Given the description of an element on the screen output the (x, y) to click on. 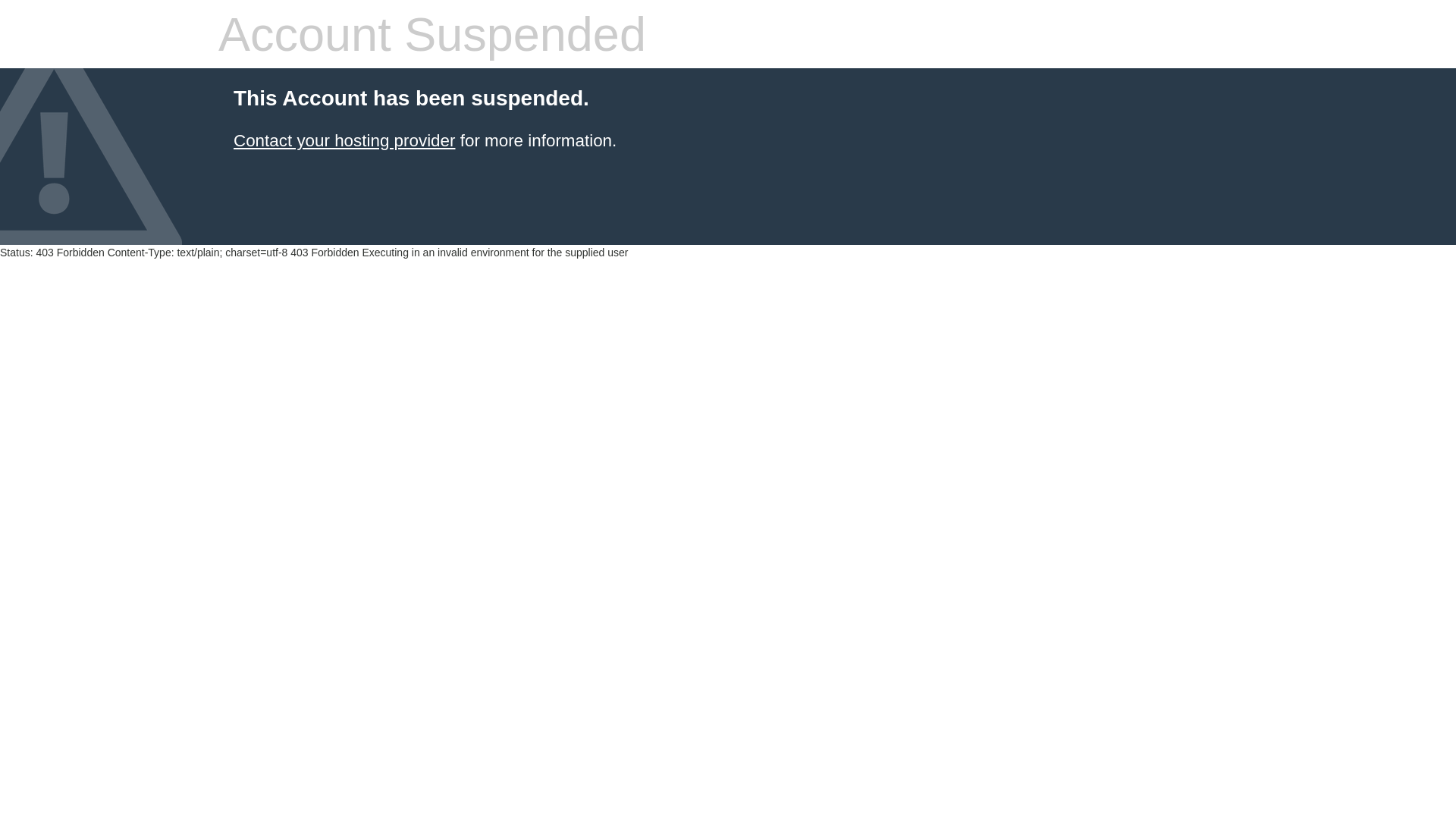
Contact your hosting provider Element type: text (344, 140)
